Given the description of an element on the screen output the (x, y) to click on. 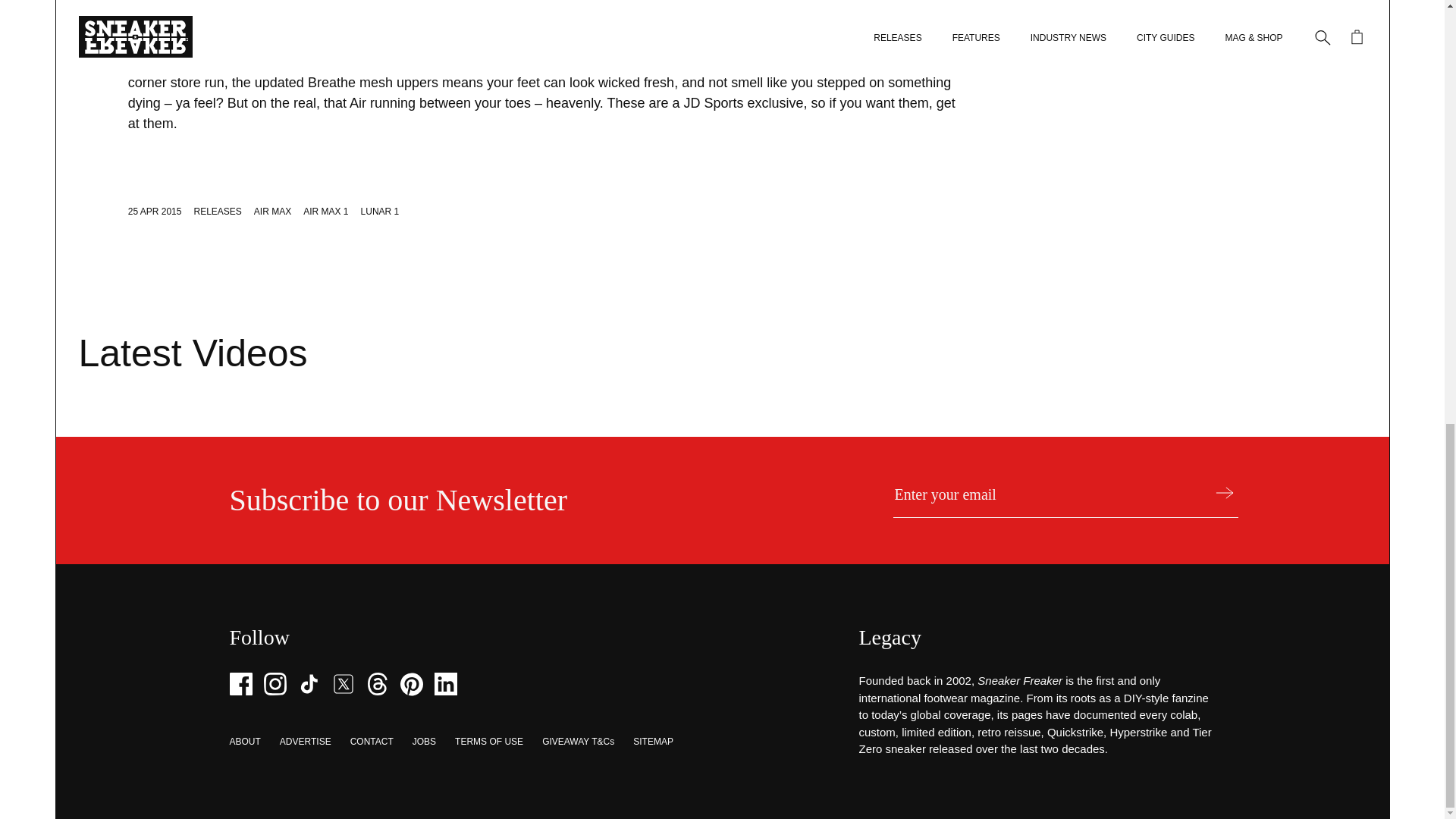
AIR MAX (272, 211)
ADVERTISE (305, 741)
LUNAR 1 (379, 211)
ABOUT (244, 741)
TERMS OF USE (488, 741)
AIR MAX 1 (324, 211)
CONTACT (371, 741)
JOBS (423, 741)
SITEMAP (652, 741)
RELEASES (217, 211)
